Given the description of an element on the screen output the (x, y) to click on. 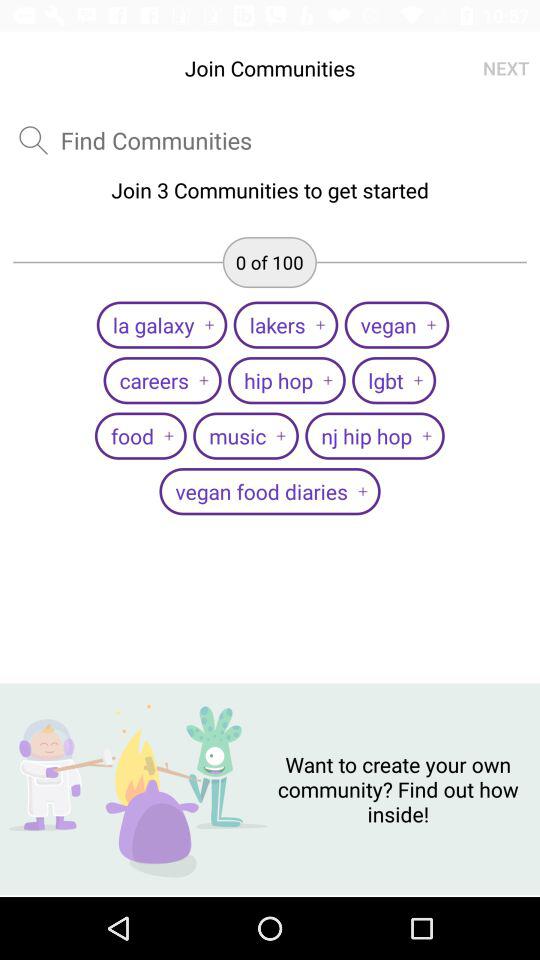
type the communities name (156, 140)
